Given the description of an element on the screen output the (x, y) to click on. 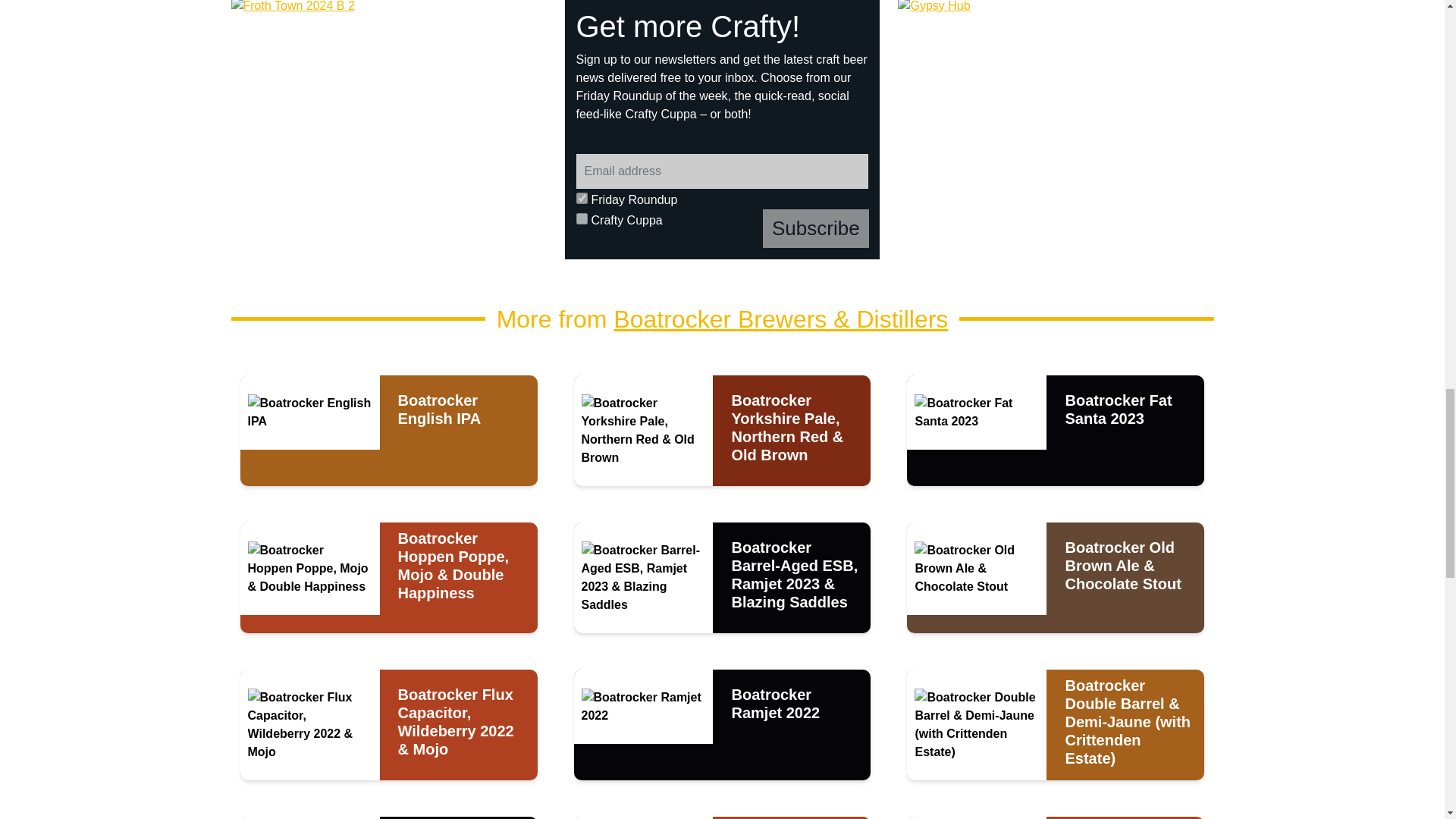
cuppa (582, 218)
Froth Town 2024 B 2 (389, 130)
Gypsy Hub (1055, 130)
Subscribe (815, 228)
friday (582, 197)
